Given the description of an element on the screen output the (x, y) to click on. 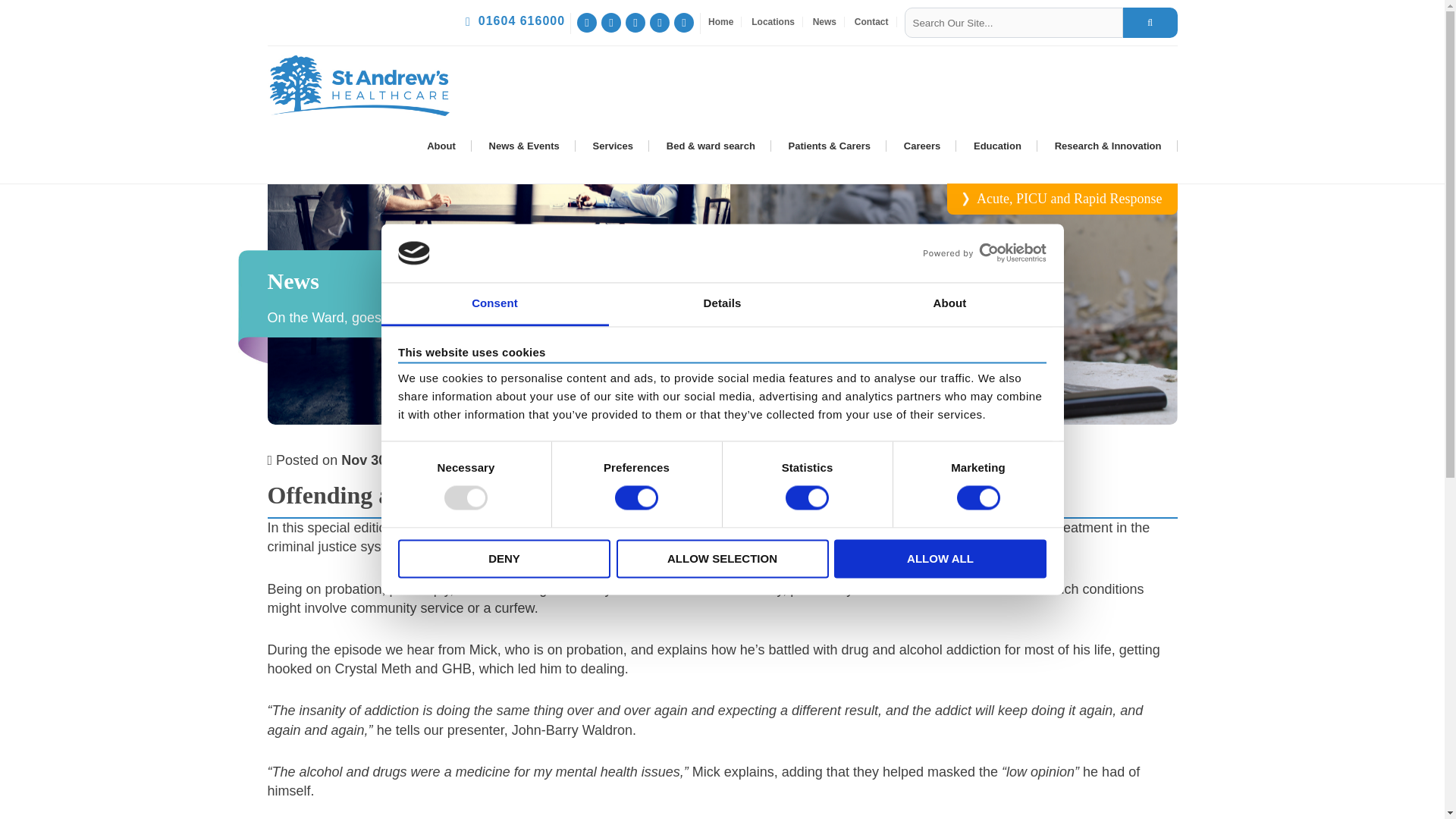
About (948, 303)
Consent (494, 303)
Details (721, 303)
